Given the description of an element on the screen output the (x, y) to click on. 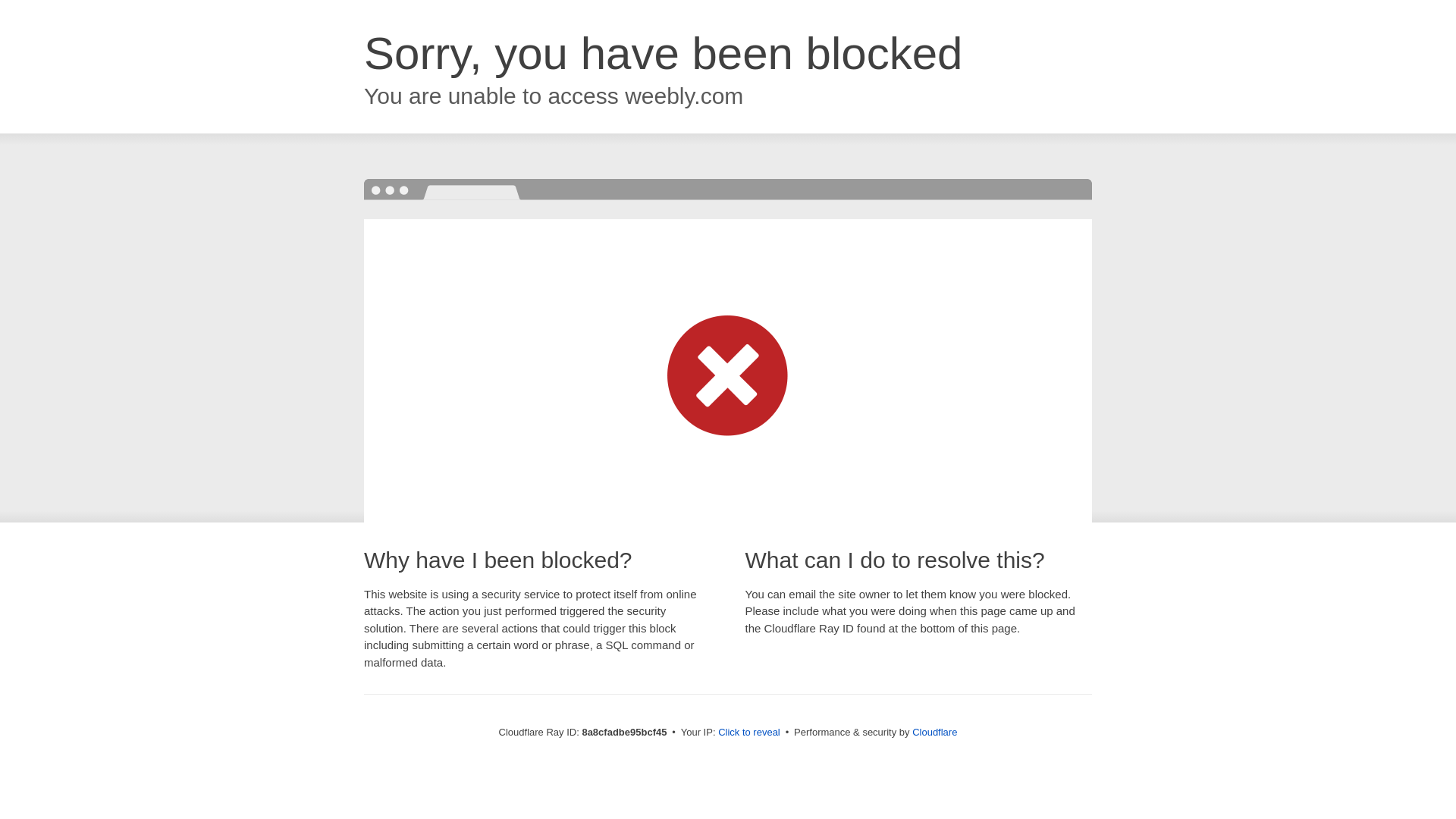
Cloudflare (934, 731)
Click to reveal (748, 732)
